Given the description of an element on the screen output the (x, y) to click on. 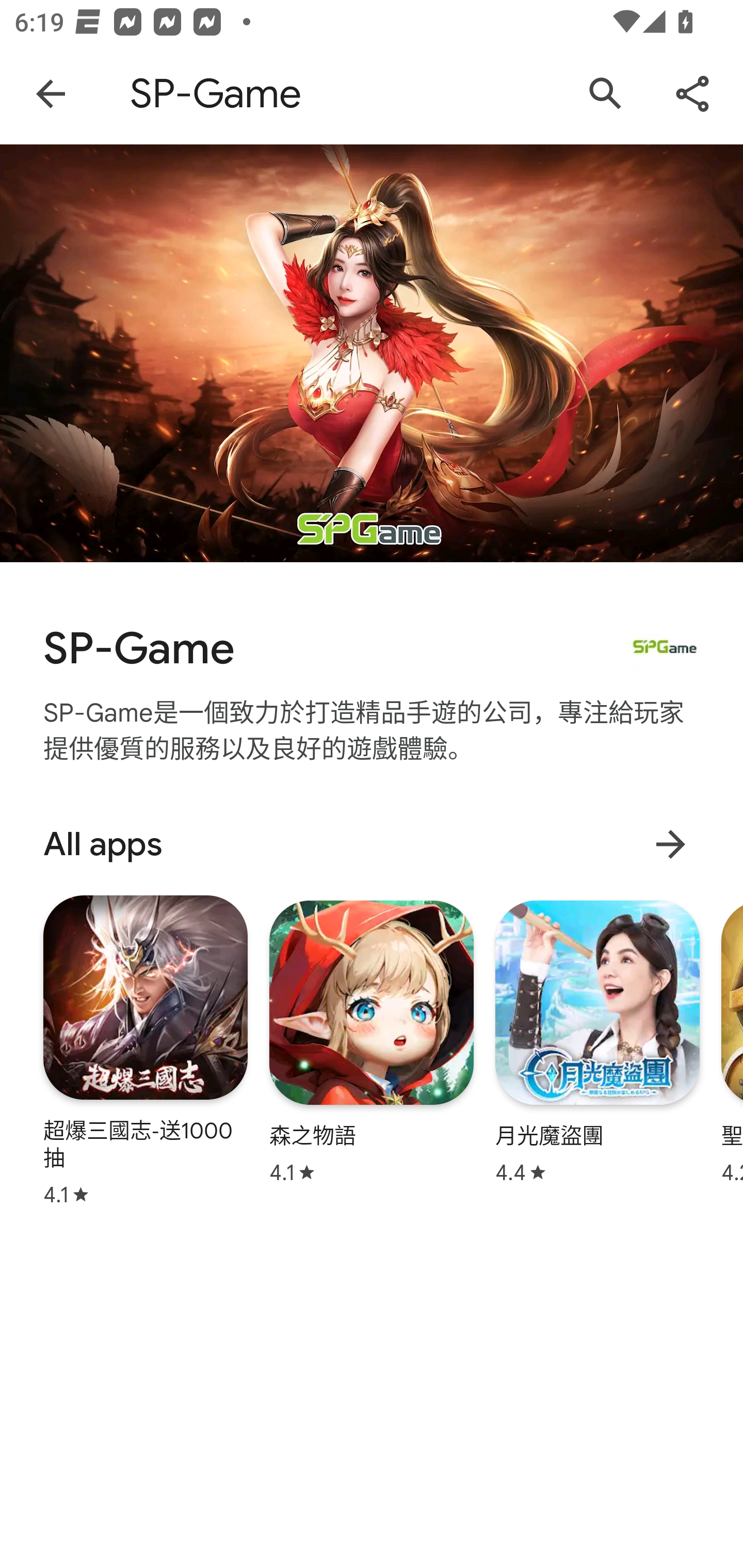
Navigate up (50, 93)
Search Google Play (605, 93)
Share (692, 93)
All apps More results for All apps (371, 844)
More results for All apps (670, 844)
超爆三國志-送1000抽
Star rating: 4.1
 (145, 1050)
森之物語
Star rating: 4.1
 (371, 1041)
月光魔盜團
Star rating: 4.4
 (597, 1041)
